Given the description of an element on the screen output the (x, y) to click on. 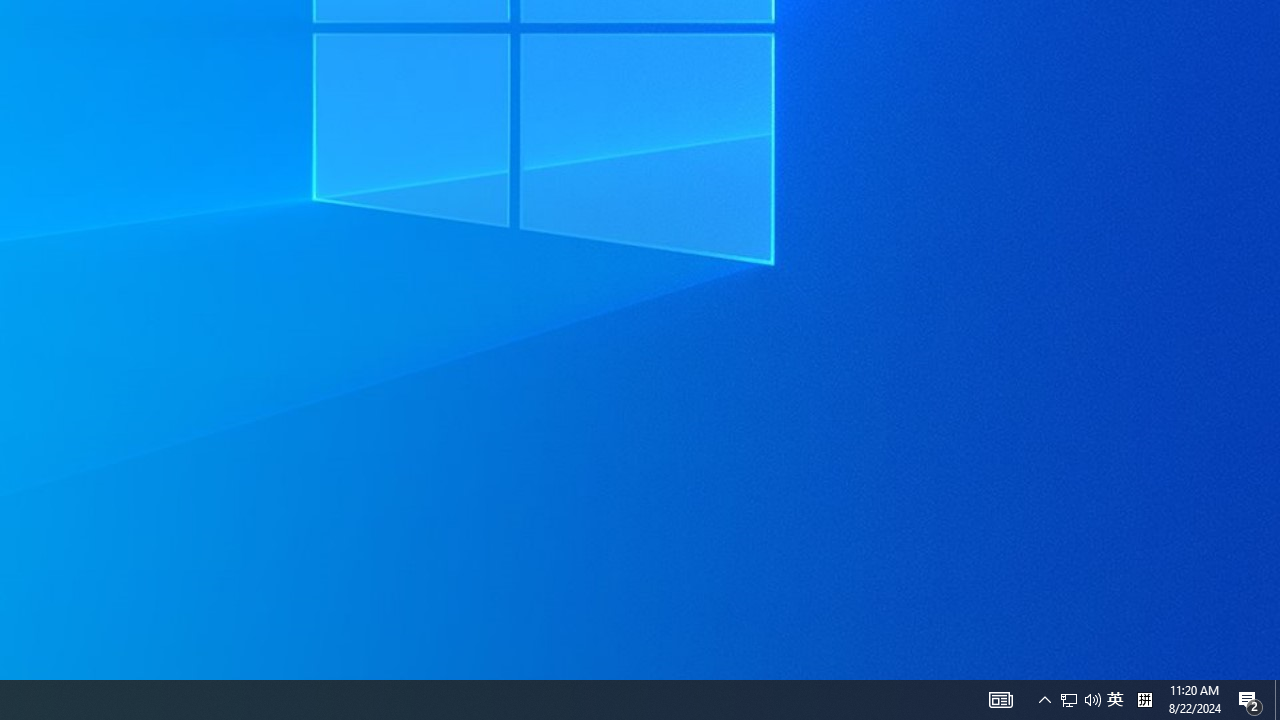
Show desktop (1069, 699)
User Promoted Notification Area (1277, 699)
Action Center, 2 new notifications (1080, 699)
Tray Input Indicator - Chinese (Simplified, China) (1250, 699)
AutomationID: 4105 (1144, 699)
Notification Chevron (1000, 699)
Q2790: 100% (1044, 699)
